Given the description of an element on the screen output the (x, y) to click on. 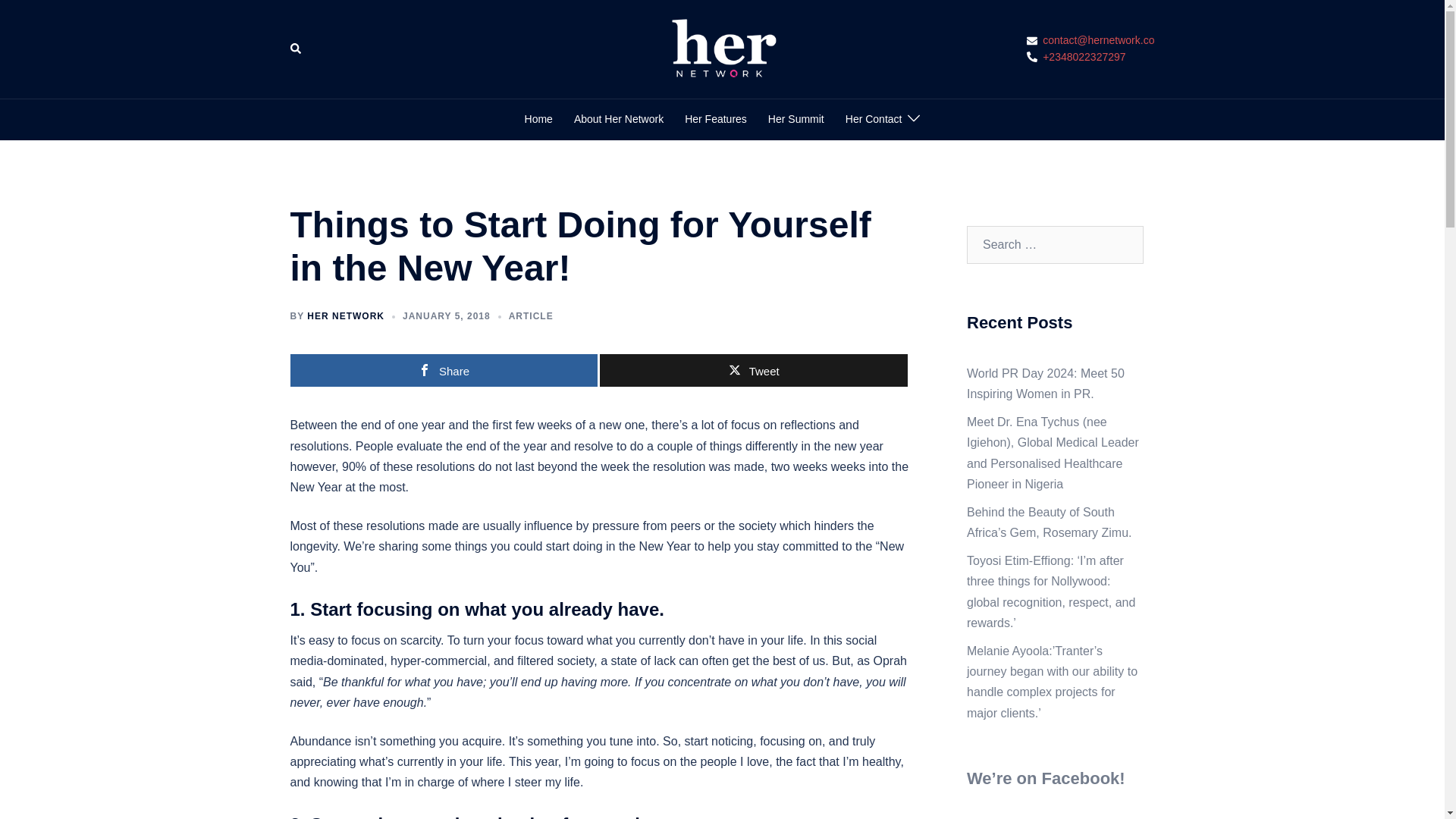
Home (538, 119)
About Her Network (618, 119)
Her Summit (796, 119)
ARTICLE (530, 316)
Her Features (715, 119)
Search (295, 49)
Share (442, 369)
JANUARY 5, 2018 (446, 316)
Her Network (721, 47)
Tweet (753, 369)
Her Contact (873, 119)
HER NETWORK (345, 316)
